Given the description of an element on the screen output the (x, y) to click on. 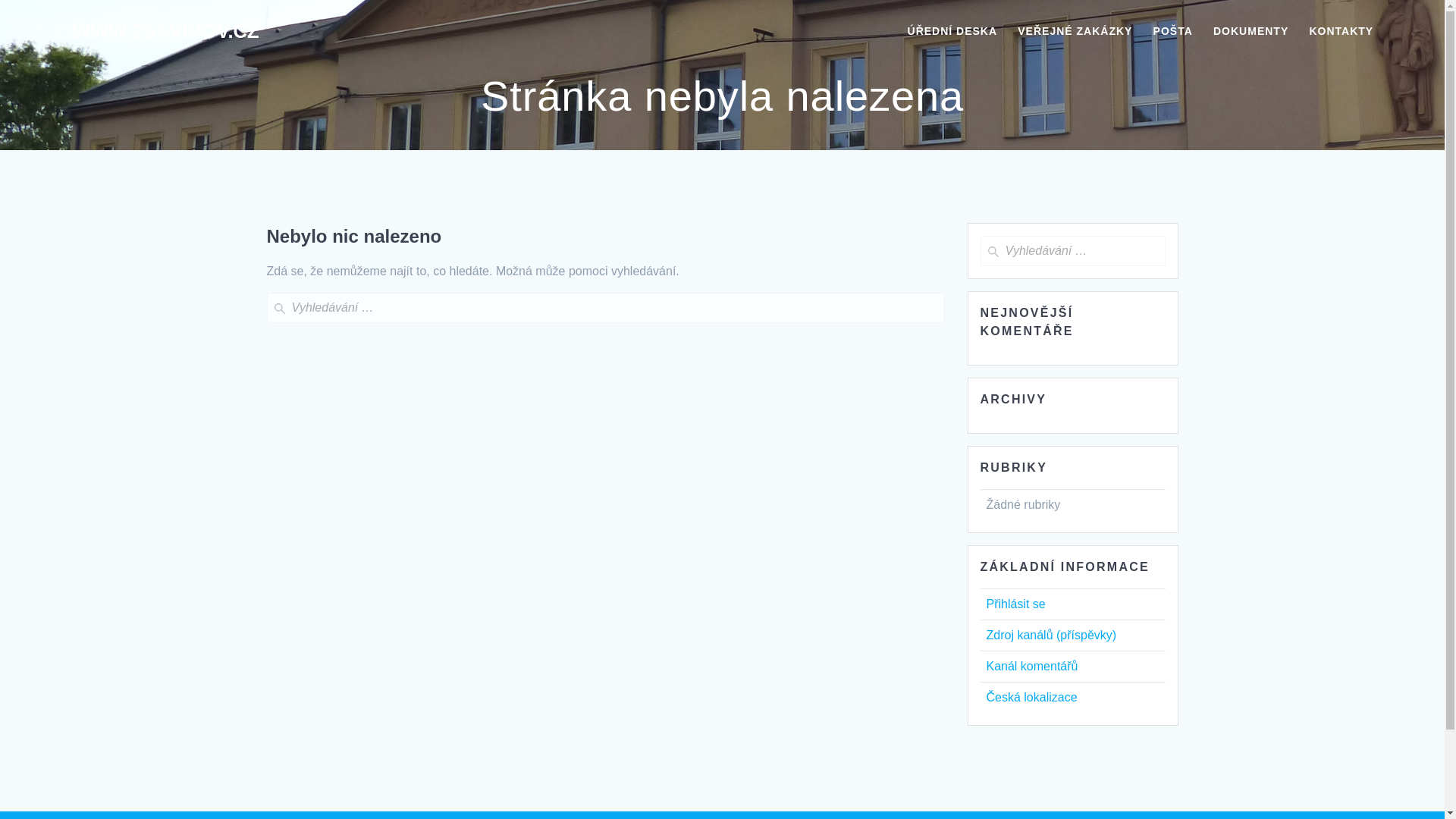
WWW.ZSSVINOV.CZ (165, 31)
KONTAKTY (1340, 31)
DOKUMENTY (1250, 31)
